Given the description of an element on the screen output the (x, y) to click on. 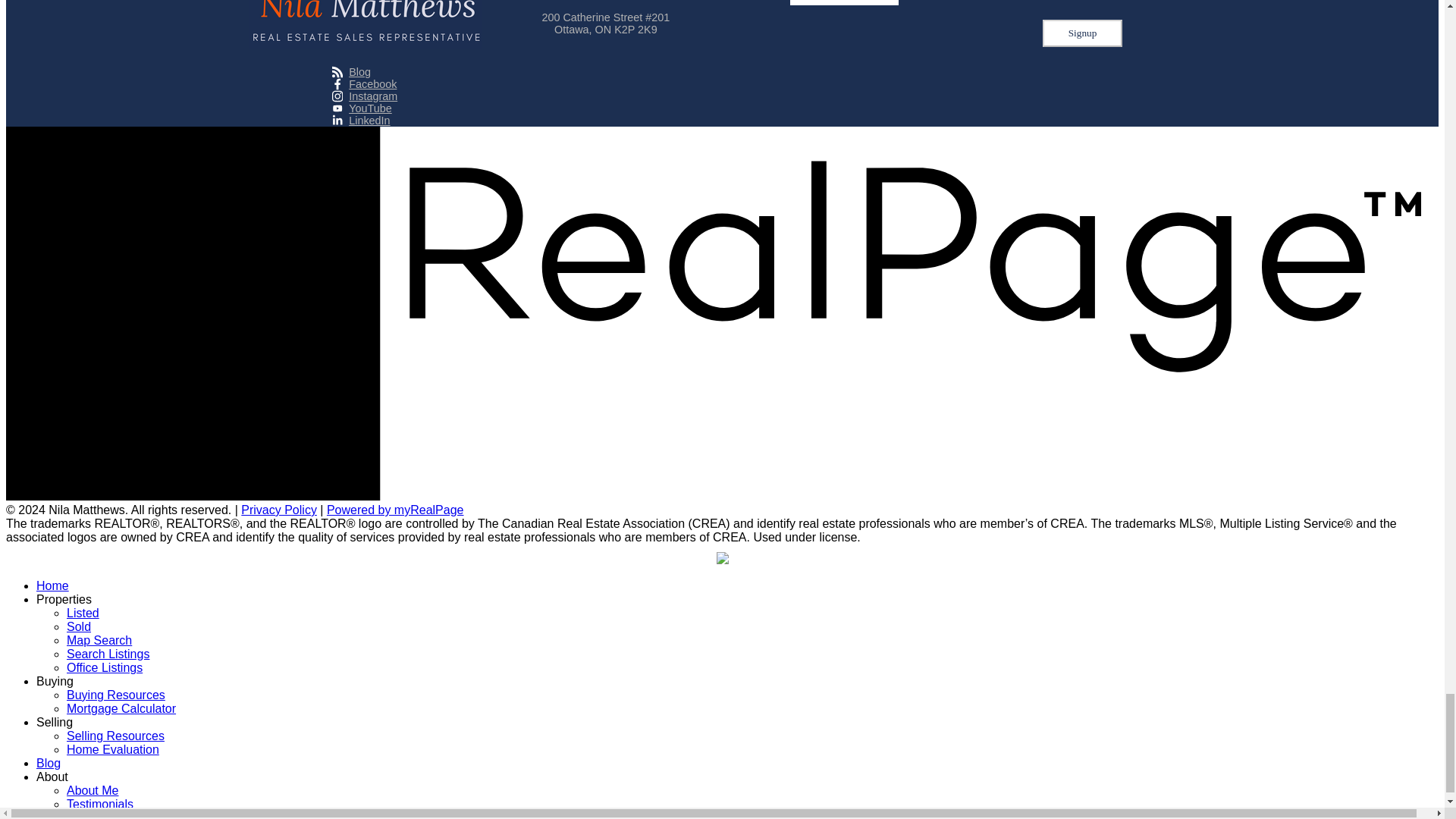
Instagram (364, 96)
LinkedIn (364, 120)
Facebook (364, 83)
YouTube (364, 108)
Blog (364, 71)
